Given the description of an element on the screen output the (x, y) to click on. 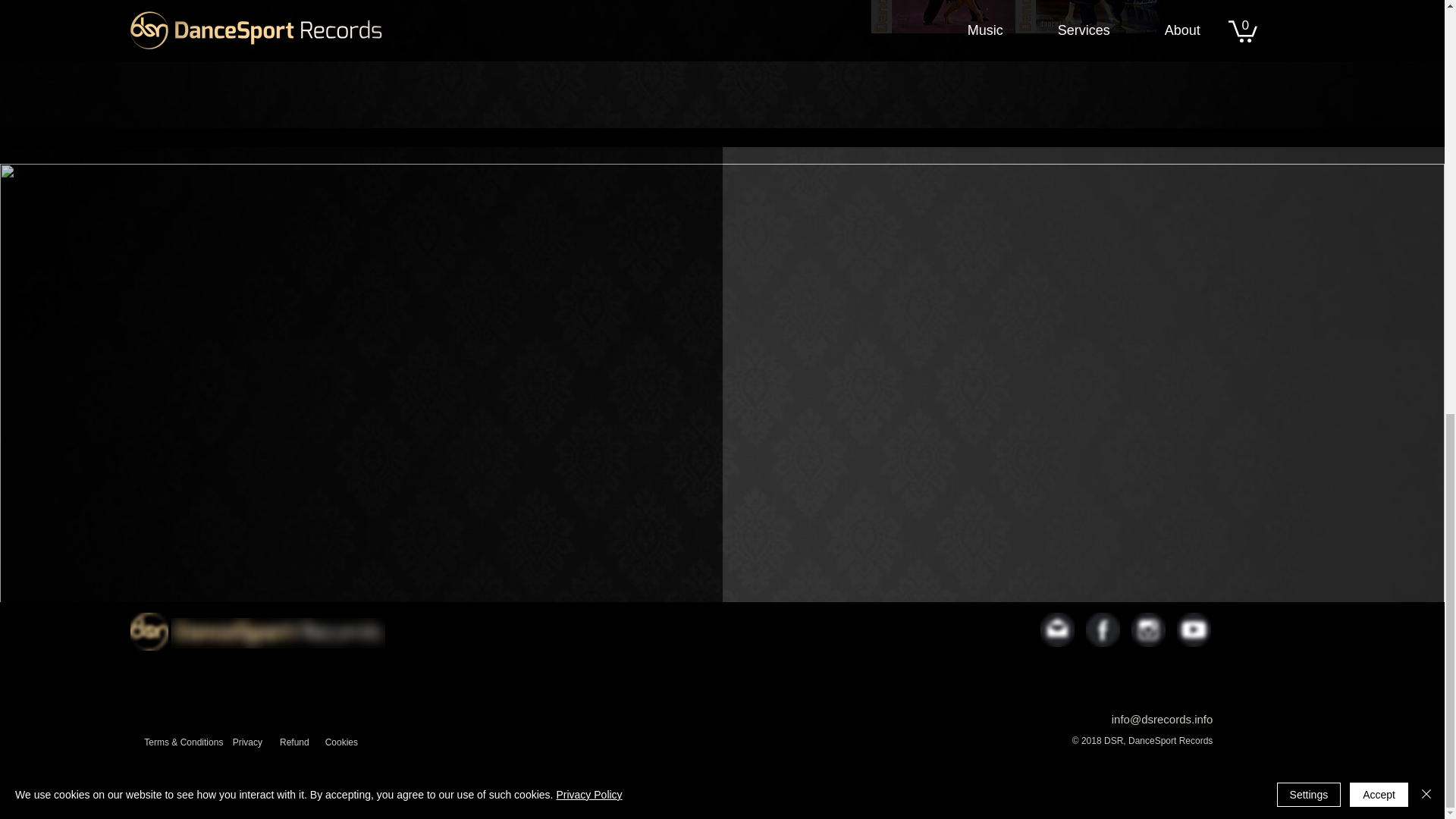
Refund (293, 743)
Cookies (341, 743)
Privacy (247, 743)
